Given the description of an element on the screen output the (x, y) to click on. 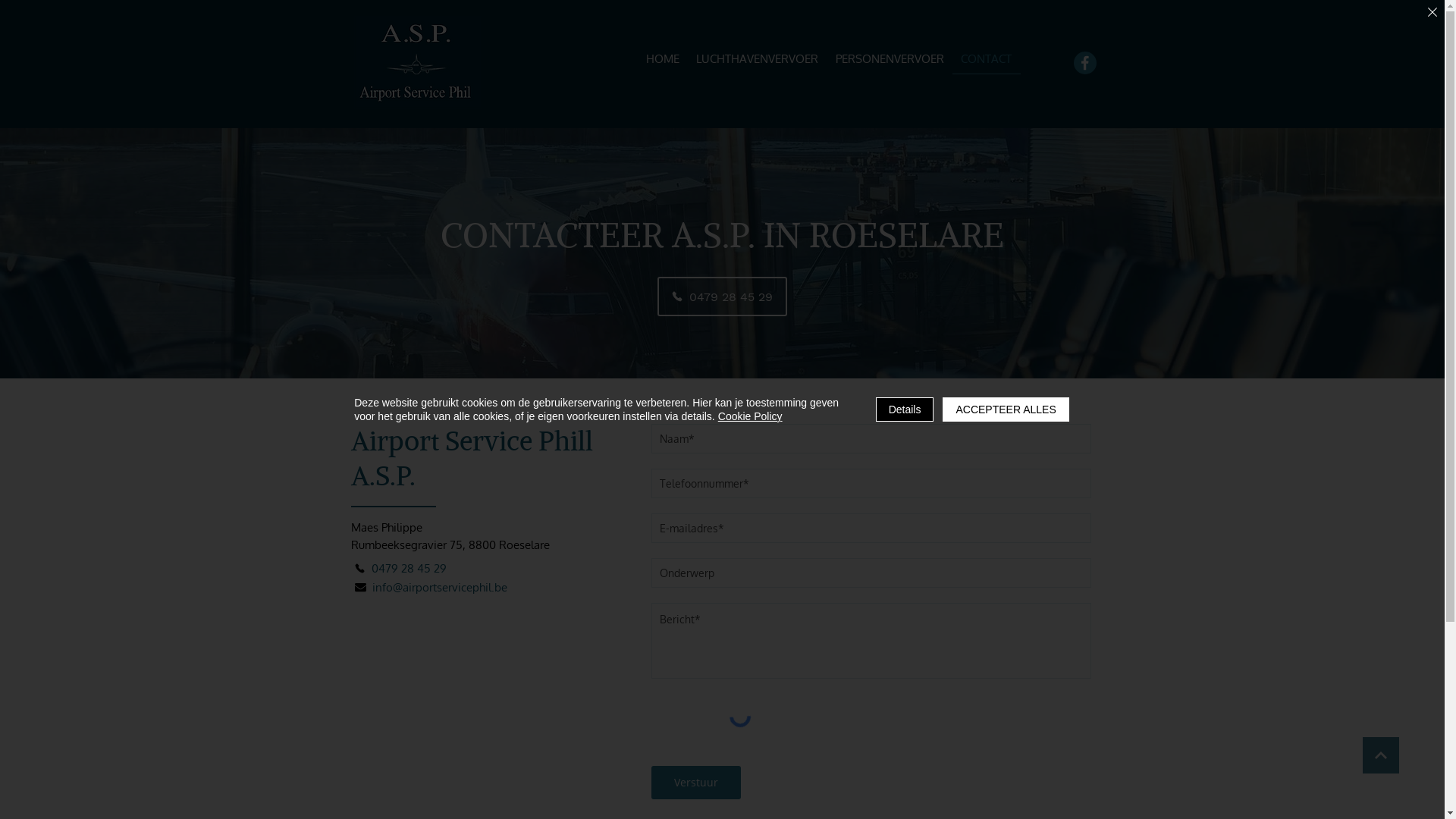
PERSONENVERVOER Element type: text (889, 58)
HOME Element type: text (662, 58)
Details Element type: text (904, 409)
CONTACT Element type: text (986, 58)
Verstuur Element type: text (695, 782)
LUCHTHAVENVERVOER Element type: text (757, 58)
0479 28 45 29 Element type: text (721, 296)
Google Maps Element type: hover (498, 707)
Cookie Policy Element type: text (750, 416)
info@airportservicephil.be Element type: text (430, 586)
ACCEPTEER ALLES Element type: text (1005, 409)
0479 28 45 29 Element type: text (400, 567)
